Given the description of an element on the screen output the (x, y) to click on. 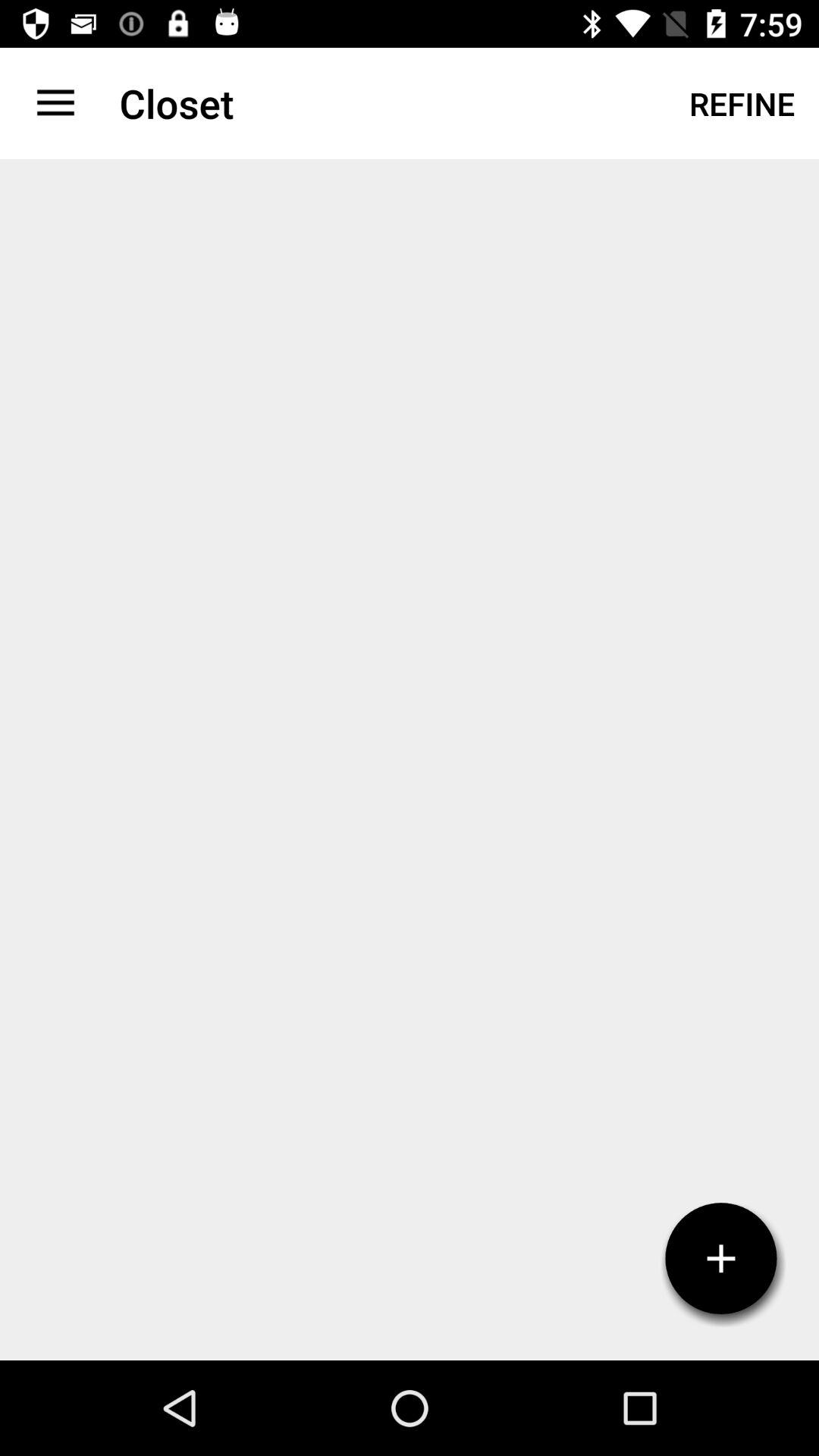
launch icon next to closet item (55, 103)
